Given the description of an element on the screen output the (x, y) to click on. 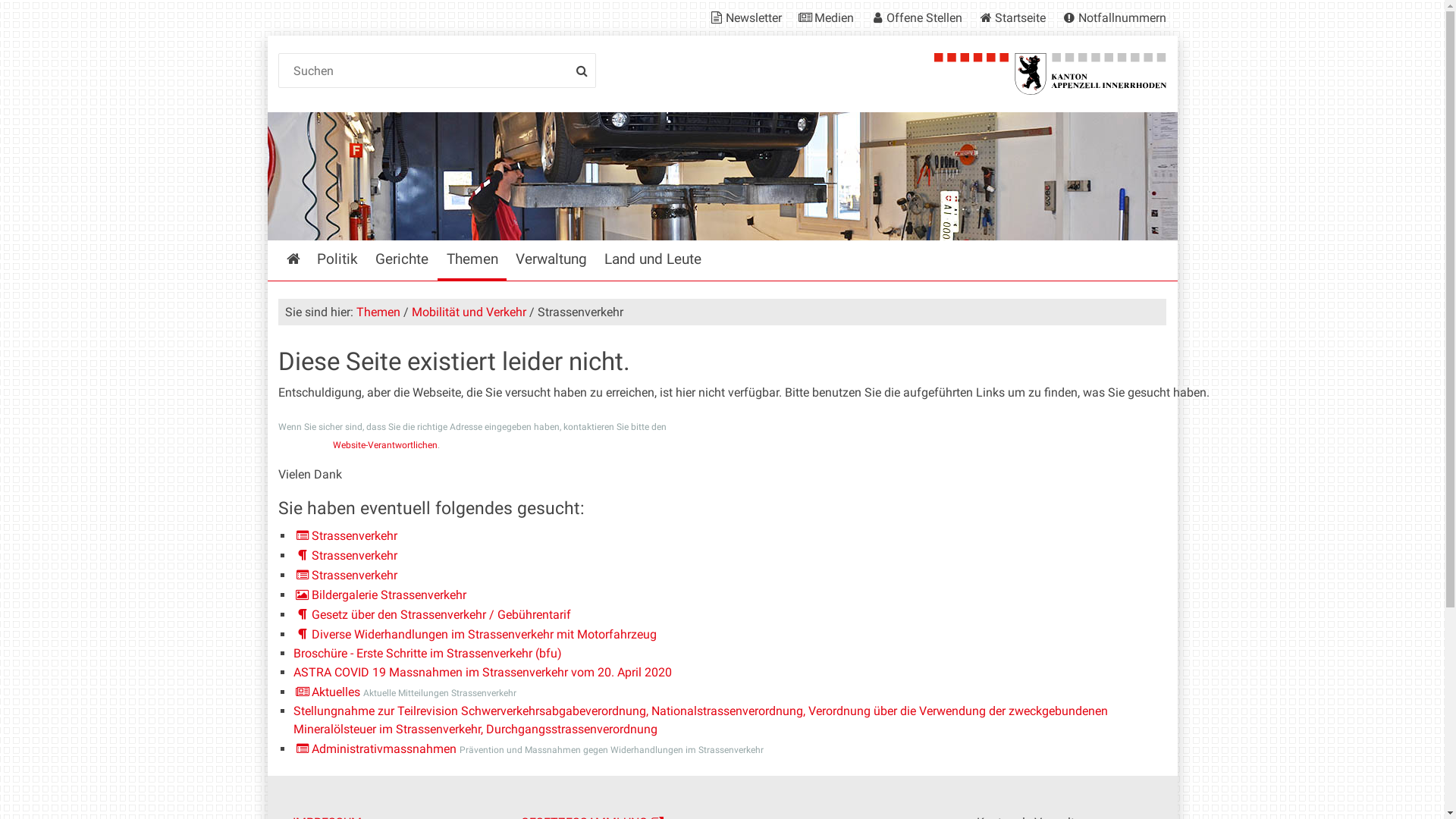
Bildergalerie Strassenverkehr Element type: text (379, 594)
Suchen Element type: hover (437, 70)
Medien Element type: text (824, 17)
Notfallnummern Element type: text (1110, 17)
Strassenverkehr Element type: text (345, 535)
Strassenverkehr Element type: text (345, 555)
Verwaltung Element type: text (550, 260)
Gerichte Element type: text (402, 260)
Themen Element type: text (471, 260)
Startseite Element type: text (1011, 17)
Land und Leute Element type: text (652, 260)
Aktuelles Element type: text (326, 691)
Strassenverkehr Element type: text (345, 574)
Newsletter Element type: text (748, 17)
Website-Verantwortlichen Element type: text (384, 444)
Politik Element type: text (337, 260)
Administrativmassnahmen Element type: text (374, 748)
Startseite Element type: text (293, 260)
Diverse Widerhandlungen im Strassenverkehr mit Motorfahrzeug Element type: text (474, 634)
Themen Element type: text (378, 311)
Offene Stellen Element type: text (914, 17)
